Given the description of an element on the screen output the (x, y) to click on. 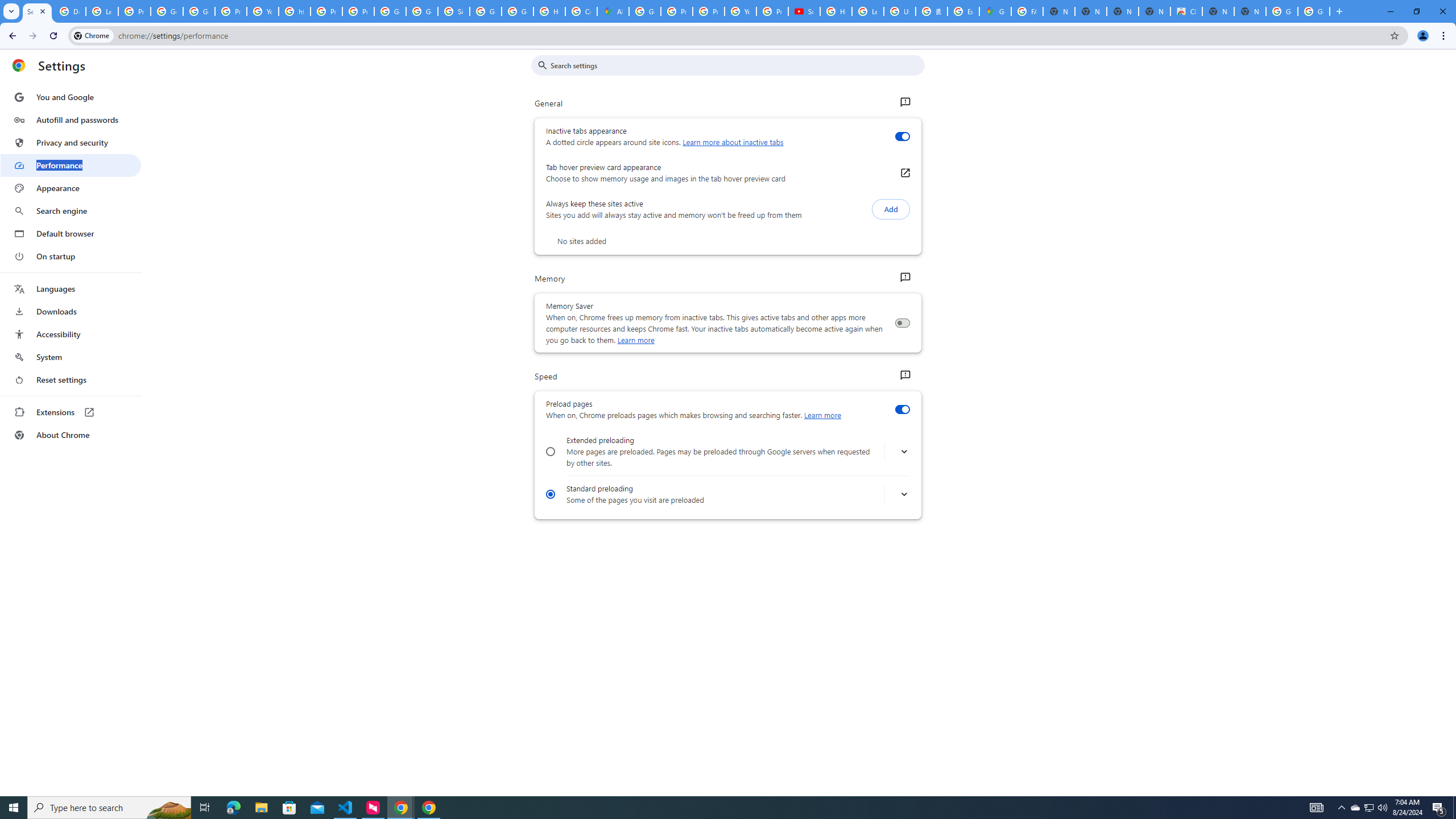
Speed (904, 375)
Search engine (70, 210)
You and Google (70, 96)
Memory (904, 277)
Explore new street-level details - Google Maps Help (963, 11)
Google Account Help (198, 11)
Reset settings (70, 379)
Extended preloading (550, 452)
Standard preloading (550, 493)
